Given the description of an element on the screen output the (x, y) to click on. 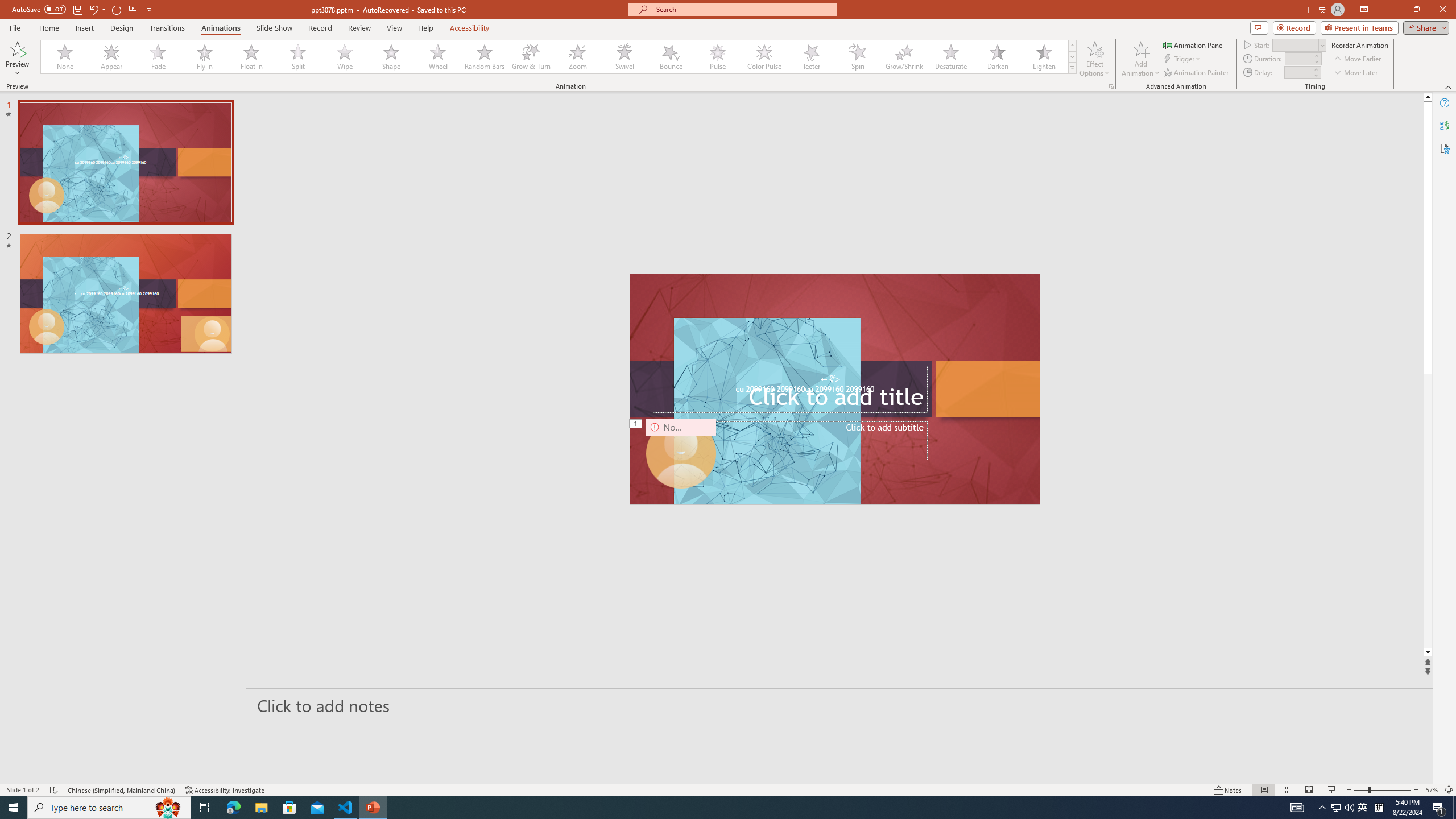
Wheel (437, 56)
Animation, sequence 1, on Camera 9 (635, 424)
Fly In (205, 56)
Random Bars (484, 56)
Desaturate (950, 56)
Float In (251, 56)
Less (1315, 75)
Animation Styles (1071, 67)
